Given the description of an element on the screen output the (x, y) to click on. 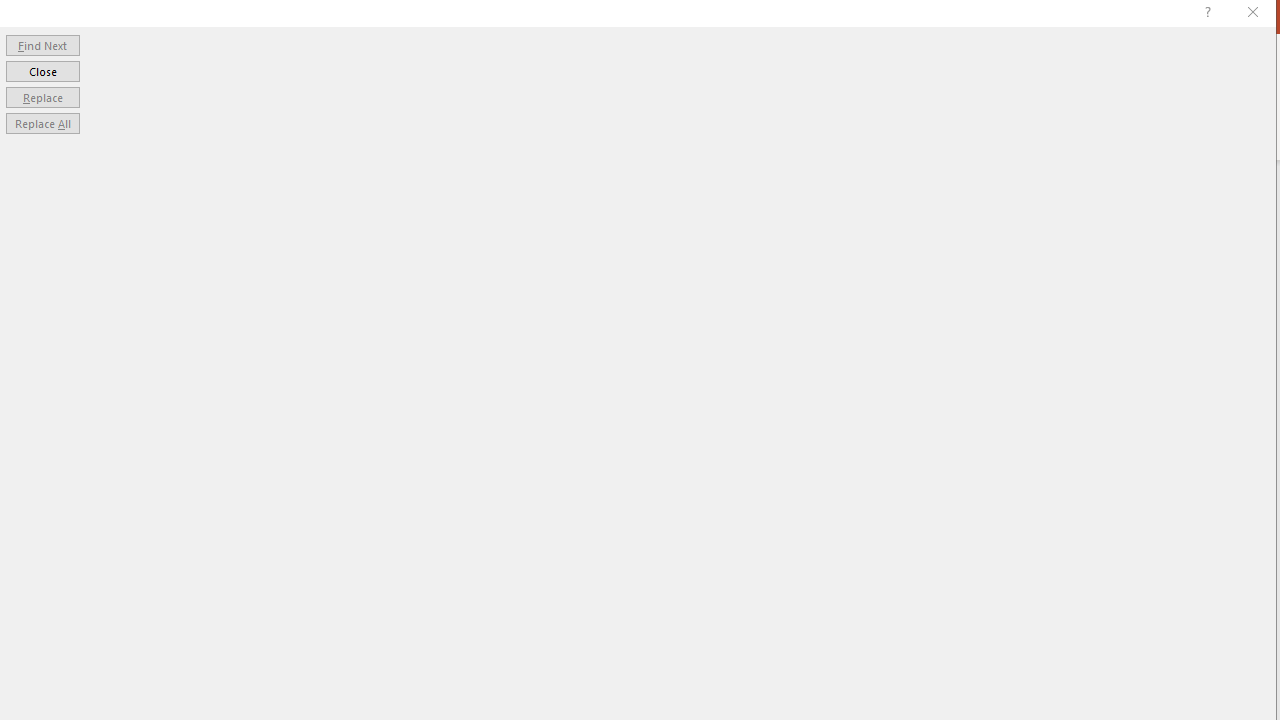
Design Idea (1124, 577)
Find Next (42, 44)
